Given the description of an element on the screen output the (x, y) to click on. 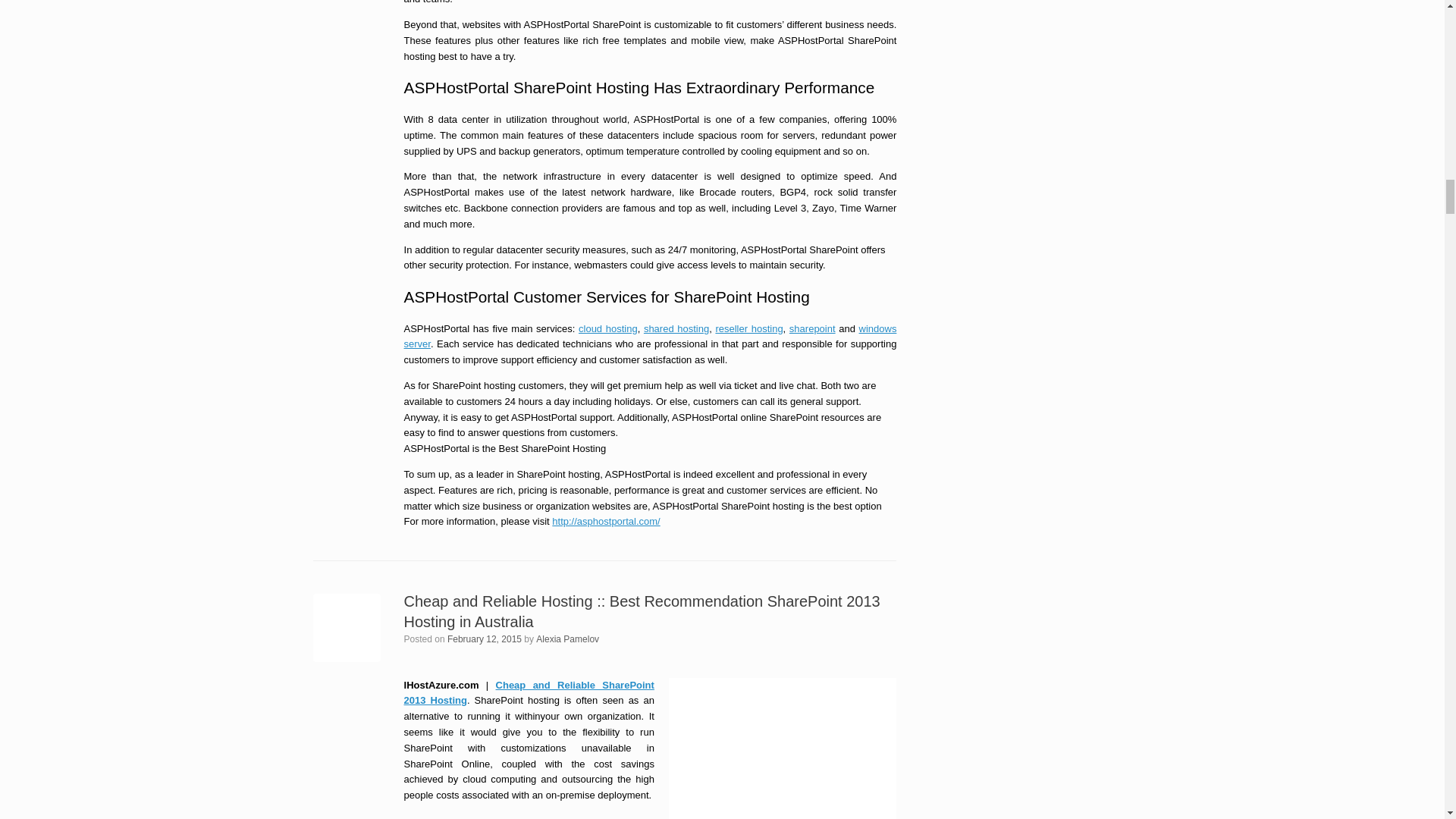
cloud hosting (607, 328)
sharepoint (812, 328)
View all posts by Alexia Pamelov (566, 638)
windows server (650, 336)
shared hosting (676, 328)
7:06 am (483, 638)
reseller hosting (748, 328)
